Given the description of an element on the screen output the (x, y) to click on. 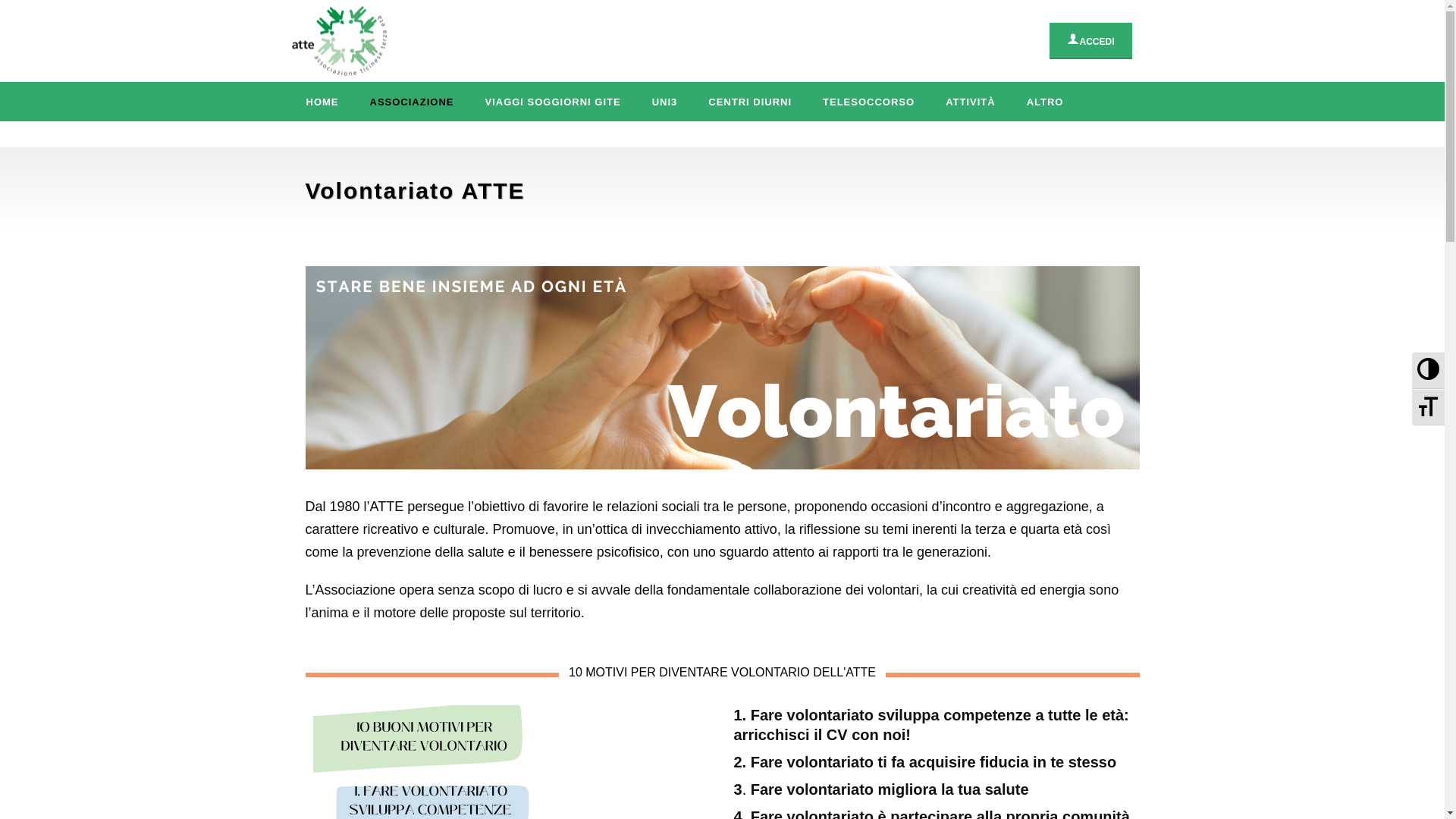
VIAGGI SOGGIORNI GITE Element type: text (552, 101)
Passa ad alto contrasto Element type: text (1428, 369)
TELESOCCORSO Element type: text (868, 101)
HOME Element type: text (322, 101)
CENTRI DIURNI Element type: text (749, 101)
ASSOCIAZIONE Element type: text (411, 101)
ALTRO Element type: text (1045, 101)
UNI3 Element type: text (665, 101)
ACCEDI Element type: text (1090, 38)
Cambia dimensione testo Element type: text (1428, 407)
